Given the description of an element on the screen output the (x, y) to click on. 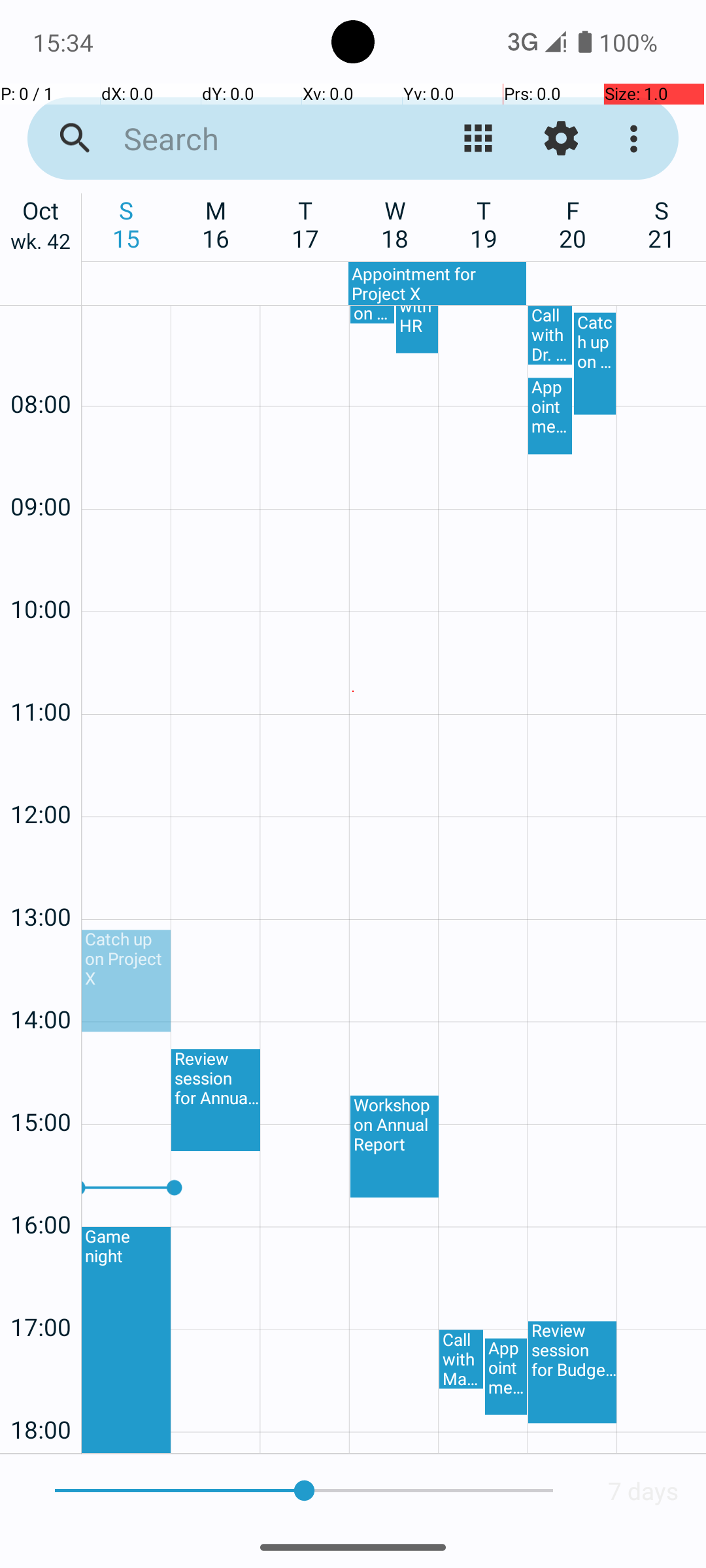
wk. 42 Element type: android.widget.TextView (40, 243)
7 days Element type: android.widget.TextView (642, 1490)
08:00 Element type: android.widget.TextView (40, 368)
10:00 Element type: android.widget.TextView (40, 573)
11:00 Element type: android.widget.TextView (40, 676)
12:00 Element type: android.widget.TextView (40, 778)
13:00 Element type: android.widget.TextView (40, 881)
14:00 Element type: android.widget.TextView (40, 983)
15:00 Element type: android.widget.TextView (40, 1086)
17:00 Element type: android.widget.TextView (40, 1291)
18:00 Element type: android.widget.TextView (40, 1394)
19:00 Element type: android.widget.TextView (40, 1449)
S
15 Element type: android.widget.TextView (126, 223)
M
16 Element type: android.widget.TextView (215, 223)
T
17 Element type: android.widget.TextView (305, 223)
W
18 Element type: android.widget.TextView (394, 223)
T
19 Element type: android.widget.TextView (483, 223)
F
20 Element type: android.widget.TextView (572, 223)
S
21 Element type: android.widget.TextView (661, 223)
Appointment for Project X Element type: android.widget.TextView (437, 283)
Game night Element type: android.widget.TextView (125, 1339)
Review session for Annual Report Element type: android.widget.TextView (215, 1100)
Workshop on Annual Report Element type: android.widget.TextView (394, 1146)
Call with HR Element type: android.widget.TextView (416, 329)
Workshop on Campaign Element type: android.widget.TextView (372, 314)
Appointment for Budget Planning Element type: android.widget.TextView (505, 1376)
Call with Marketing Element type: android.widget.TextView (461, 1359)
Review session for Budget Planning Element type: android.widget.TextView (572, 1371)
Appointment for Annual Report Element type: android.widget.TextView (549, 415)
Call with Dr. Smith Element type: android.widget.TextView (549, 334)
